Given the description of an element on the screen output the (x, y) to click on. 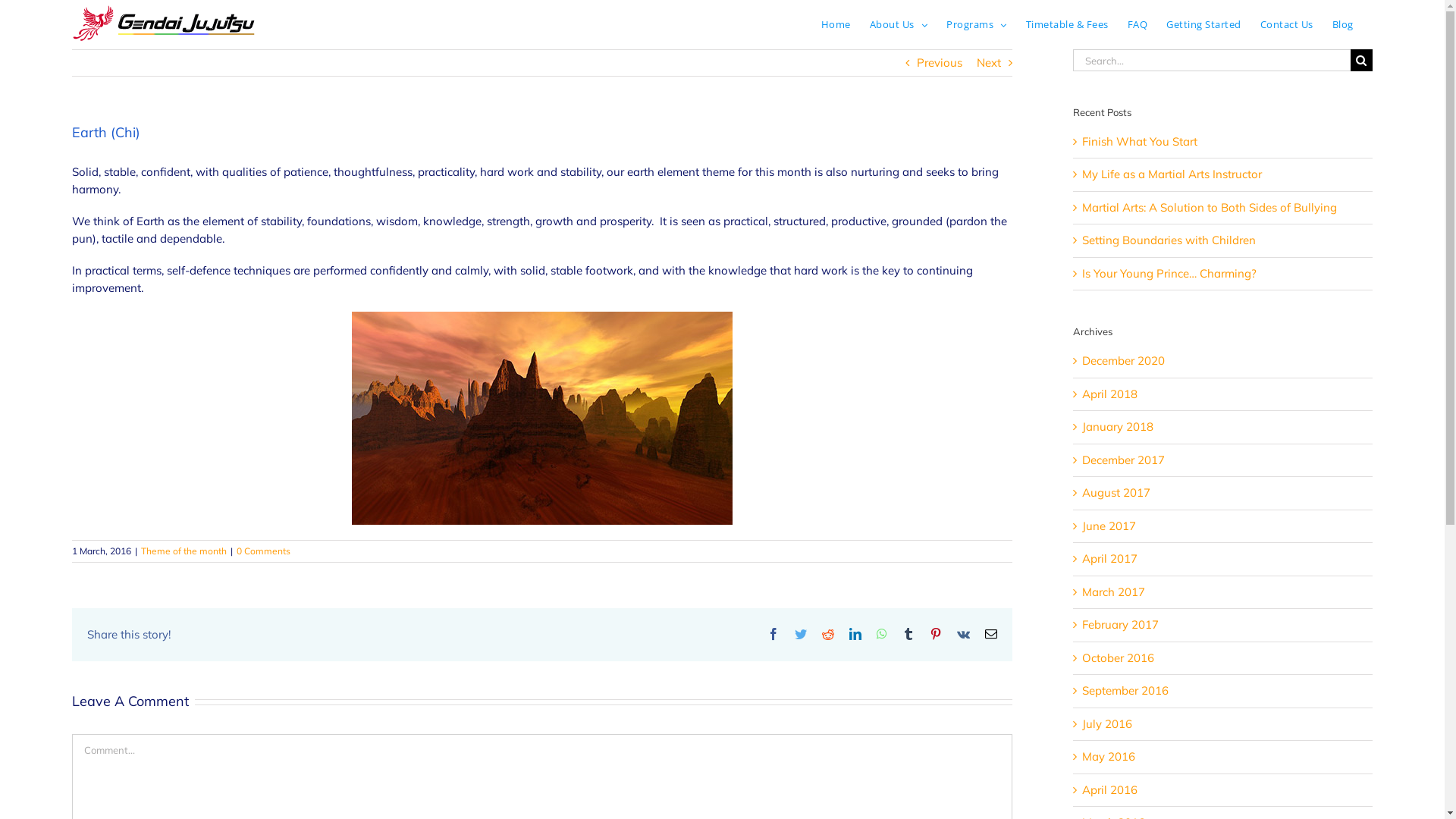
LinkedIn Element type: text (855, 633)
August 2017 Element type: text (1116, 492)
Tumblr Element type: text (908, 633)
Vk Element type: text (963, 633)
June 2017 Element type: text (1108, 525)
April 2017 Element type: text (1109, 558)
January 2018 Element type: text (1117, 426)
Finish What You Start Element type: text (1139, 141)
Timetable & Fees Element type: text (1067, 24)
Facebook Element type: text (773, 633)
My Life as a Martial Arts Instructor Element type: text (1171, 173)
Getting Started Element type: text (1203, 24)
September 2016 Element type: text (1125, 690)
Programs Element type: text (976, 24)
Previous Element type: text (939, 62)
Theme of the month Element type: text (183, 550)
March 2017 Element type: text (1113, 591)
December 2017 Element type: text (1123, 459)
Reddit Element type: text (828, 633)
WhatsApp Element type: text (881, 633)
Next Element type: text (988, 62)
Twitter Element type: text (800, 633)
October 2016 Element type: text (1118, 657)
Email Element type: text (991, 633)
About Us Element type: text (898, 24)
0 Comments Element type: text (263, 550)
Home Element type: text (835, 24)
May 2016 Element type: text (1108, 756)
Blog Element type: text (1342, 24)
Setting Boundaries with Children Element type: text (1168, 239)
Martial Arts: A Solution to Both Sides of Bullying Element type: text (1209, 207)
April 2018 Element type: text (1109, 393)
February 2017 Element type: text (1120, 624)
FAQ Element type: text (1137, 24)
Contact Us Element type: text (1286, 24)
July 2016 Element type: text (1107, 723)
April 2016 Element type: text (1109, 789)
December 2020 Element type: text (1123, 360)
Pinterest Element type: text (935, 633)
